Given the description of an element on the screen output the (x, y) to click on. 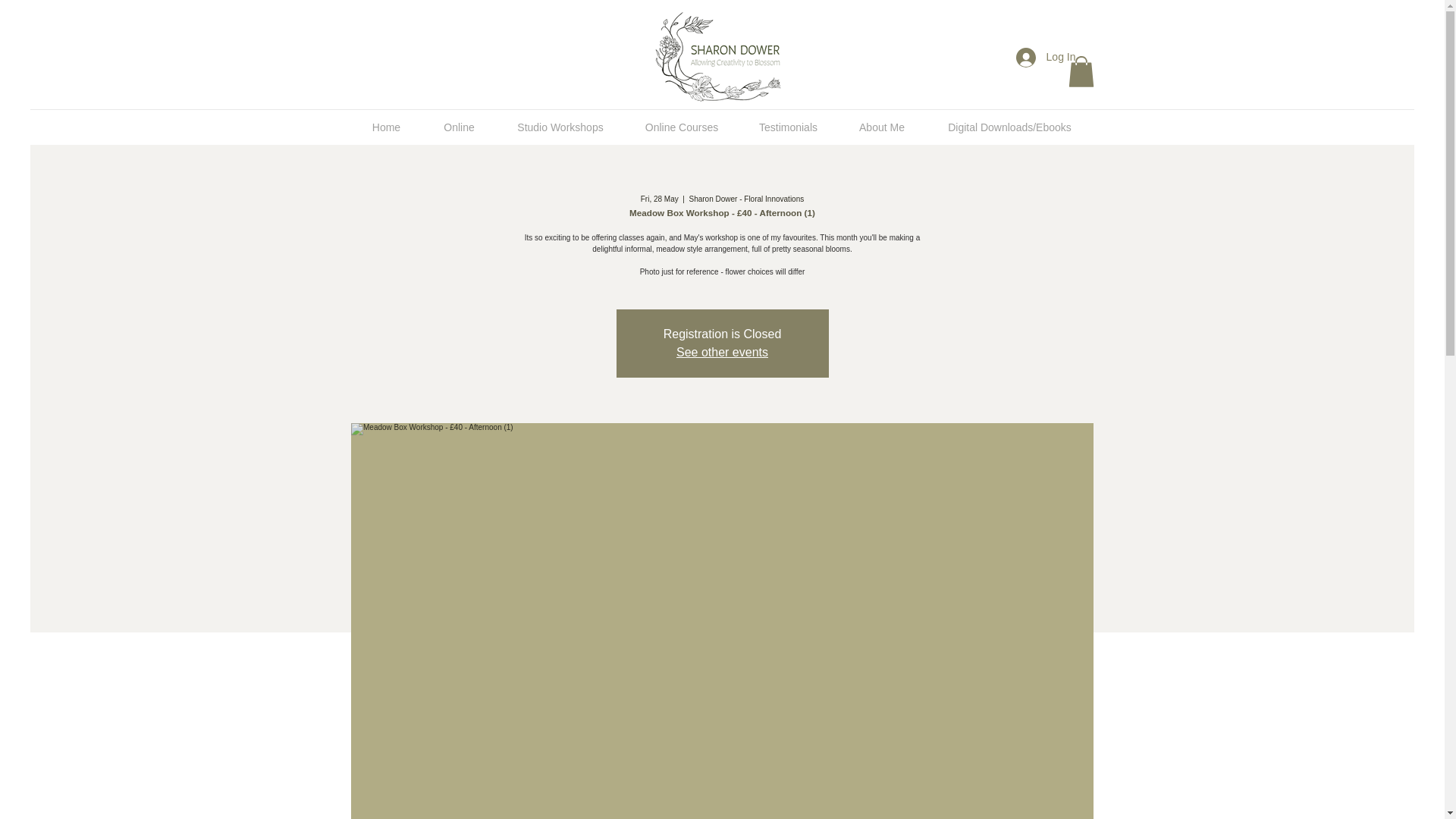
About Me (881, 126)
Log In (1046, 57)
Home (386, 126)
Online (459, 126)
Online Courses (681, 126)
Studio Workshops (560, 126)
See other events (722, 351)
Testimonials (787, 126)
